Given the description of an element on the screen output the (x, y) to click on. 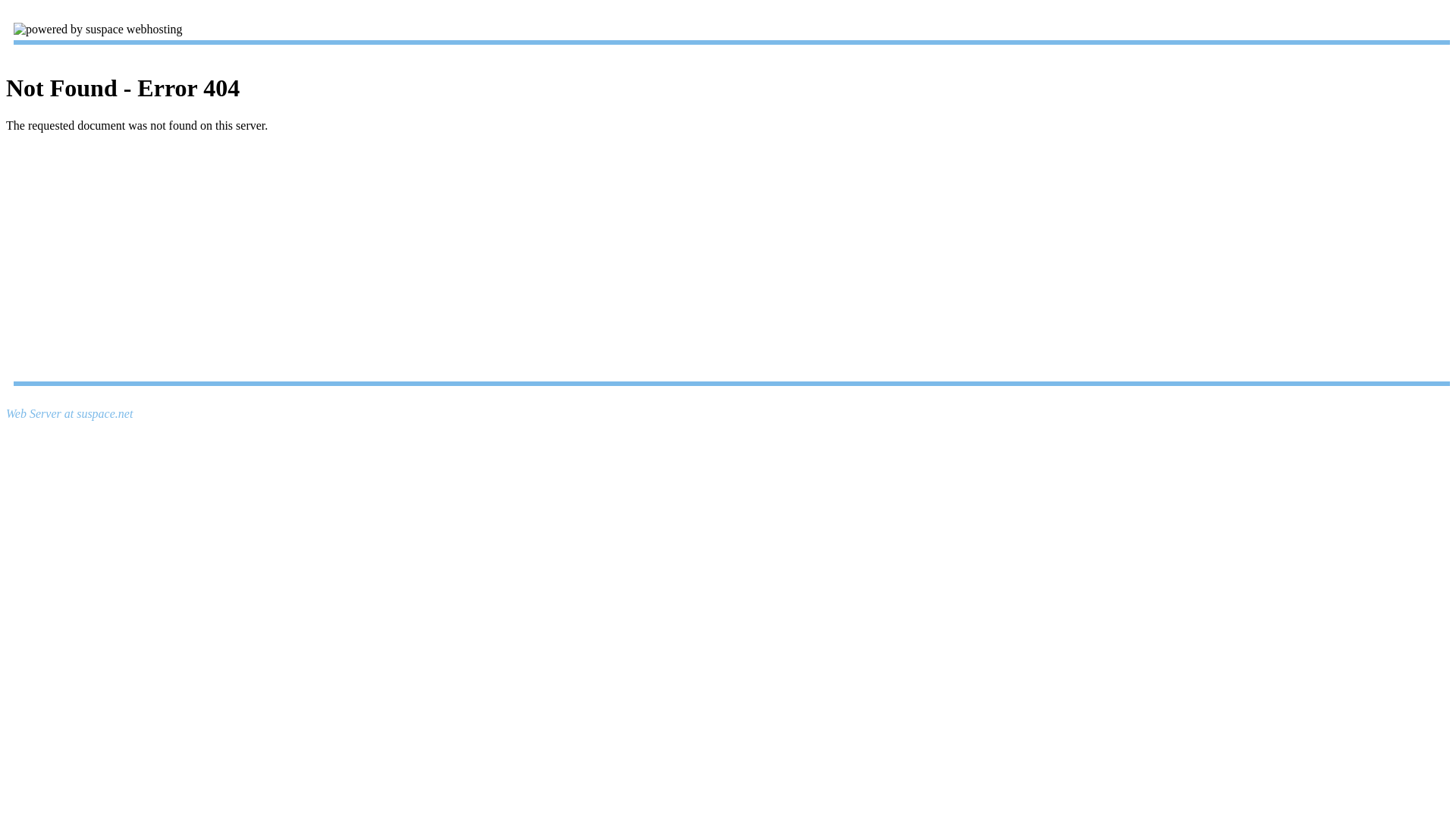
Web Server at suspace.net Element type: text (69, 413)
